Given the description of an element on the screen output the (x, y) to click on. 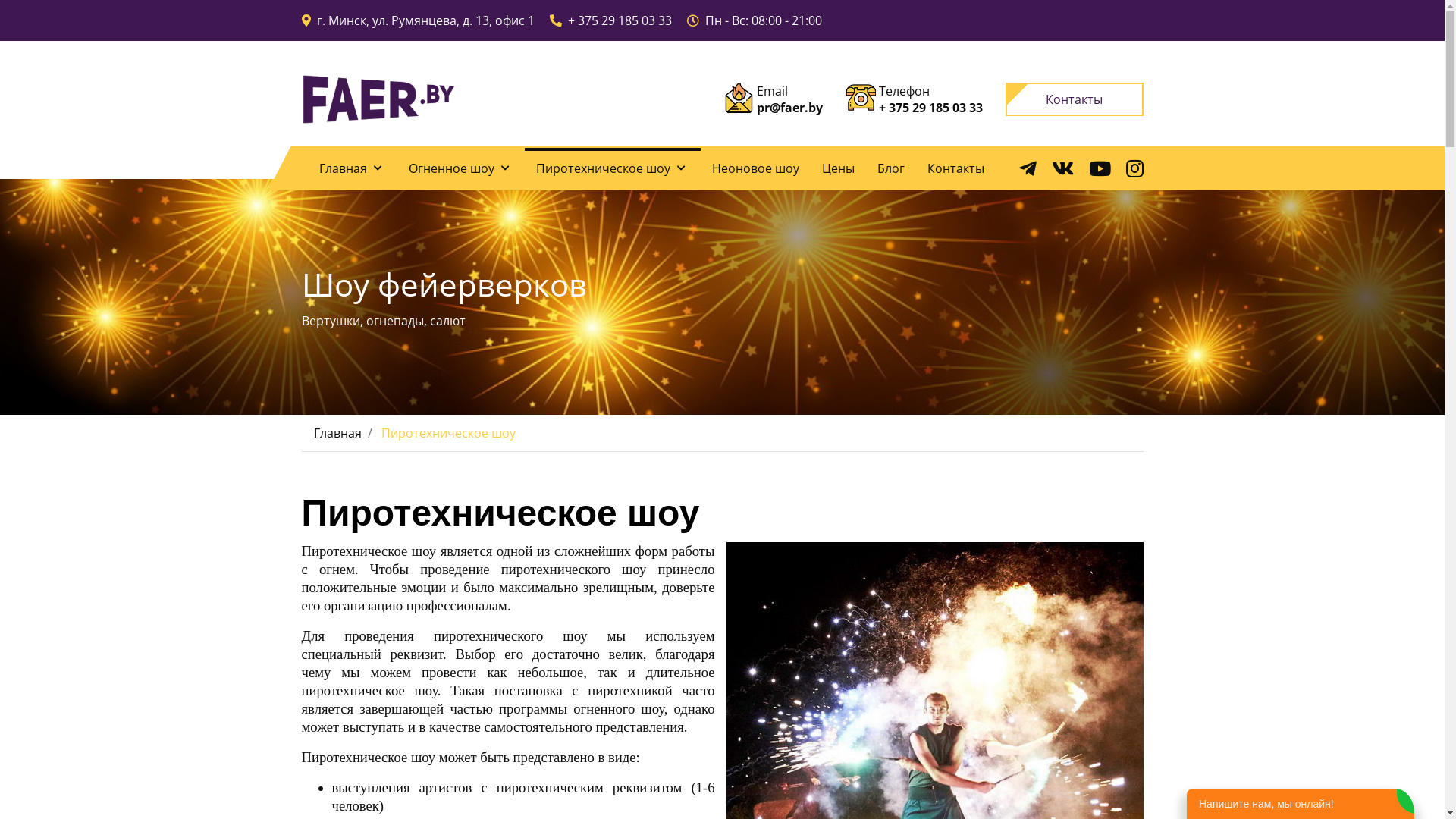
+ 375 29 185 03 33 Element type: text (930, 107)
pr@faer.by Element type: text (789, 107)
+ 375 29 185 03 33 Element type: text (619, 20)
